Given the description of an element on the screen output the (x, y) to click on. 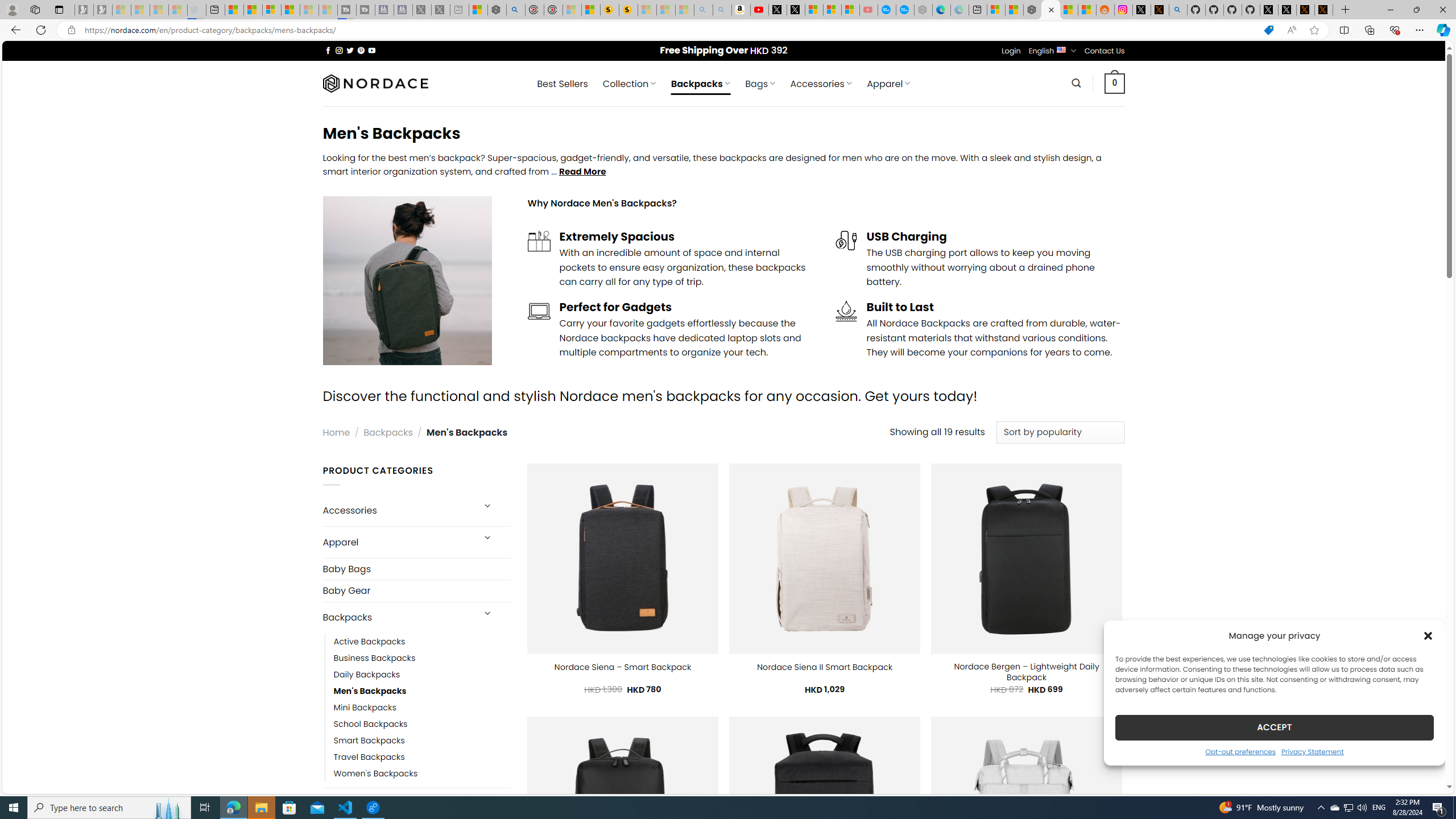
Baby Gear (416, 590)
Nordace (374, 83)
Day 1: Arriving in Yemen (surreal to be here) - YouTube (759, 9)
Read aloud this page (Ctrl+Shift+U) (1291, 29)
Wildlife - MSN (478, 9)
School Backpacks (370, 723)
